Given the description of an element on the screen output the (x, y) to click on. 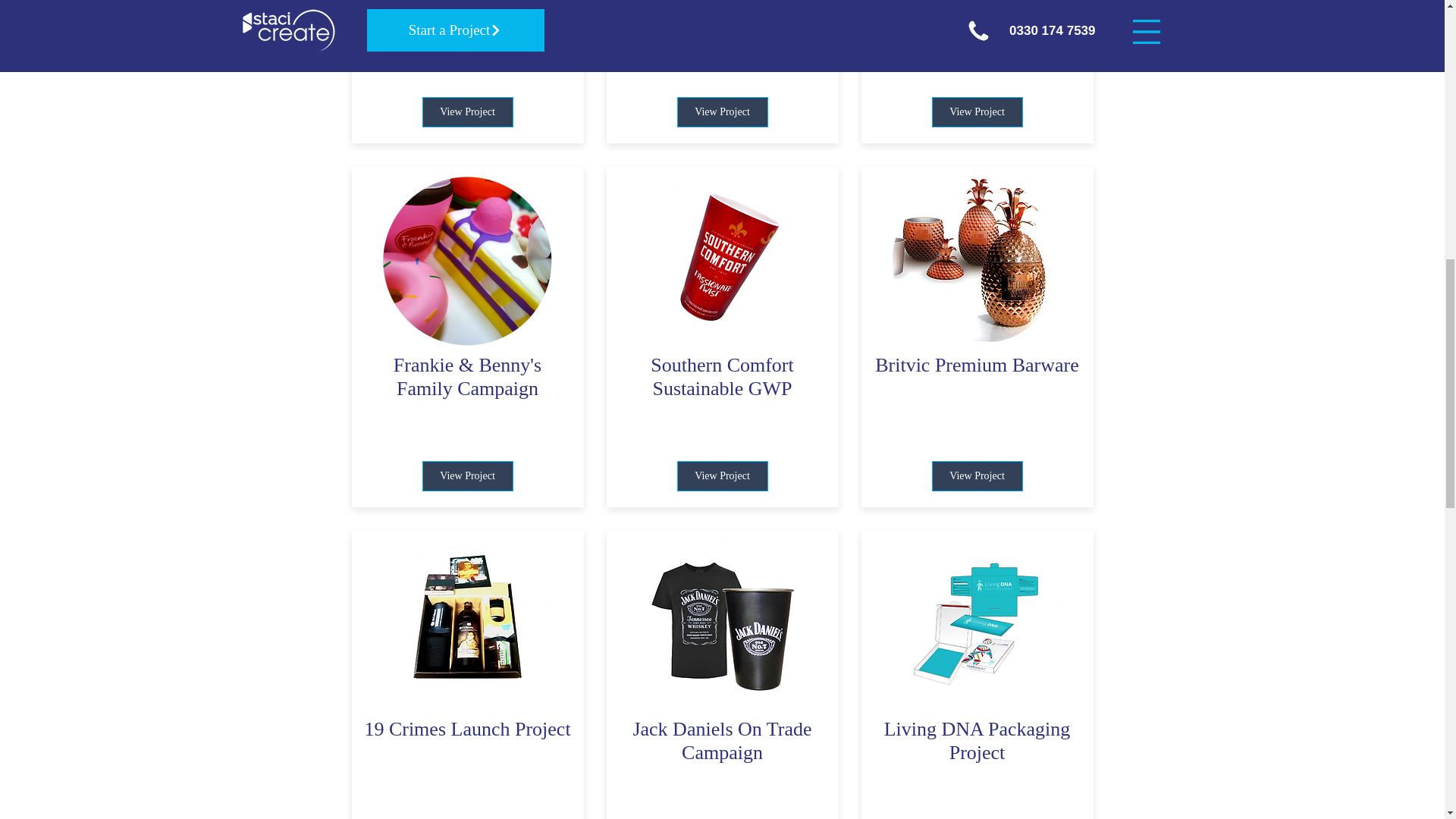
View Project (722, 112)
View Project (467, 476)
View Project (976, 112)
Frankie and Bennys Case Study Circle.webp (466, 260)
View Project (467, 112)
View Project (976, 476)
19 Crimes Brand Launch.webp (466, 625)
View Project (722, 476)
Jack Daniels POS Circle.png (721, 625)
Southern Comfort Eco Friendly Gift With Purchase.webp (721, 260)
Living DNA Packaging.png (976, 625)
